Given the description of an element on the screen output the (x, y) to click on. 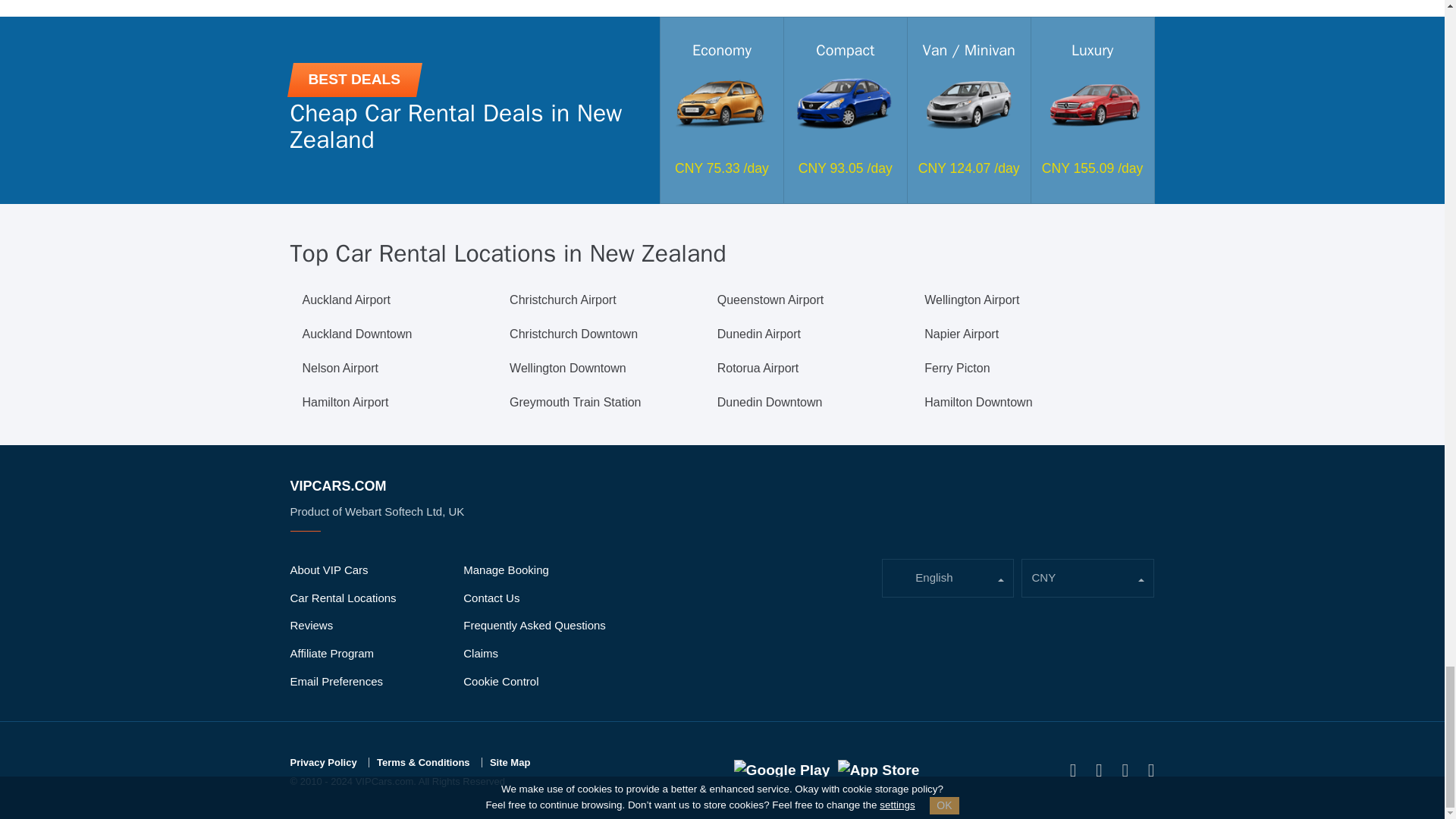
Dunedin Downtown (769, 402)
Ferry Picton (957, 368)
Auckland Airport (345, 300)
Queenstown Airport (770, 300)
Wellington Airport (971, 300)
Wellington Airport (971, 300)
Napier Airport (961, 334)
Christchurch Downtown (573, 334)
Christchurch Airport (562, 300)
Hamilton Downtown (978, 402)
